Given the description of an element on the screen output the (x, y) to click on. 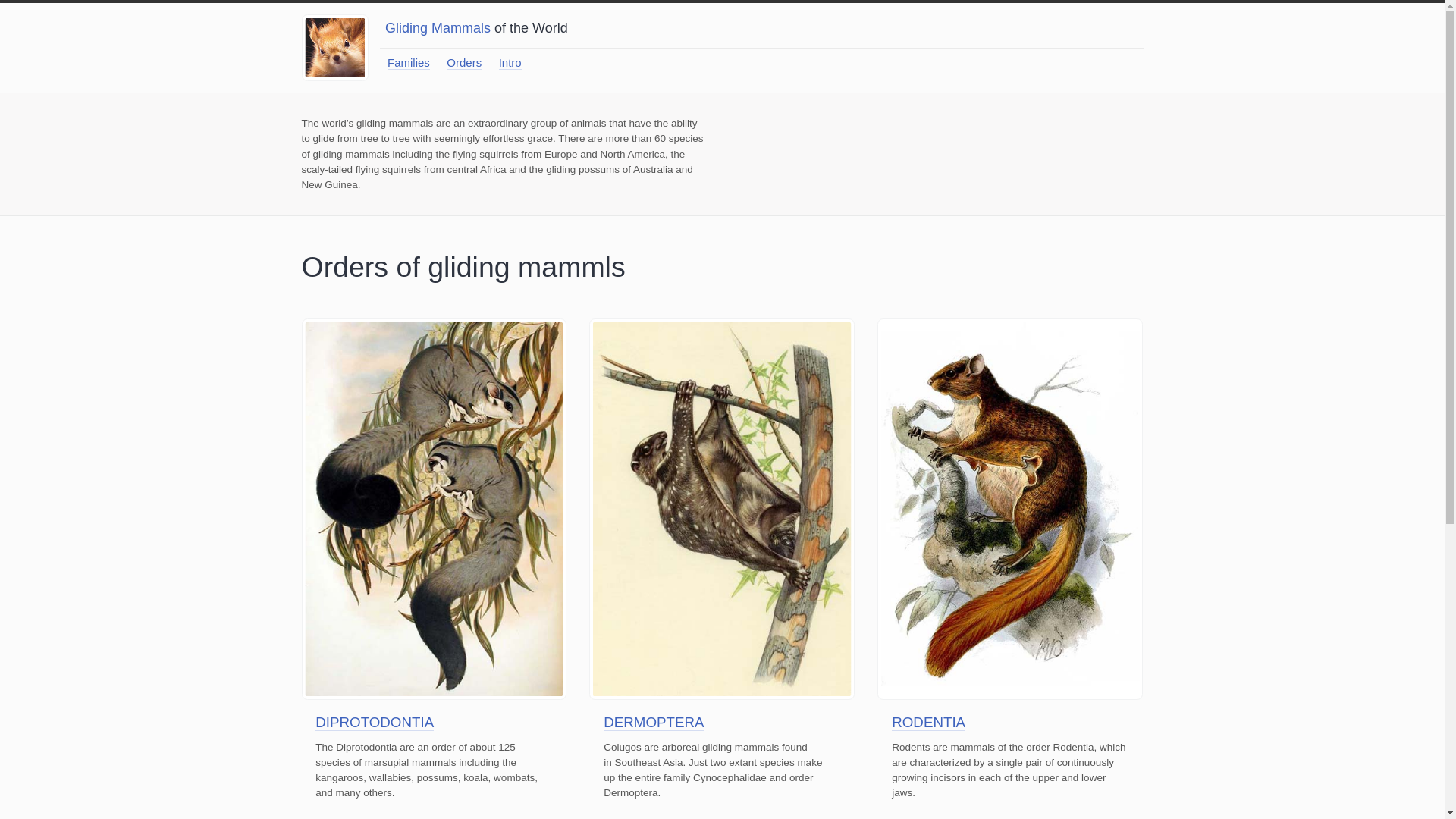
Families (408, 62)
RODENTIA (928, 722)
Gliding Mammals (437, 27)
Orders (463, 62)
Intro (510, 62)
DIPROTODONTIA (374, 722)
DERMOPTERA (653, 722)
